Given the description of an element on the screen output the (x, y) to click on. 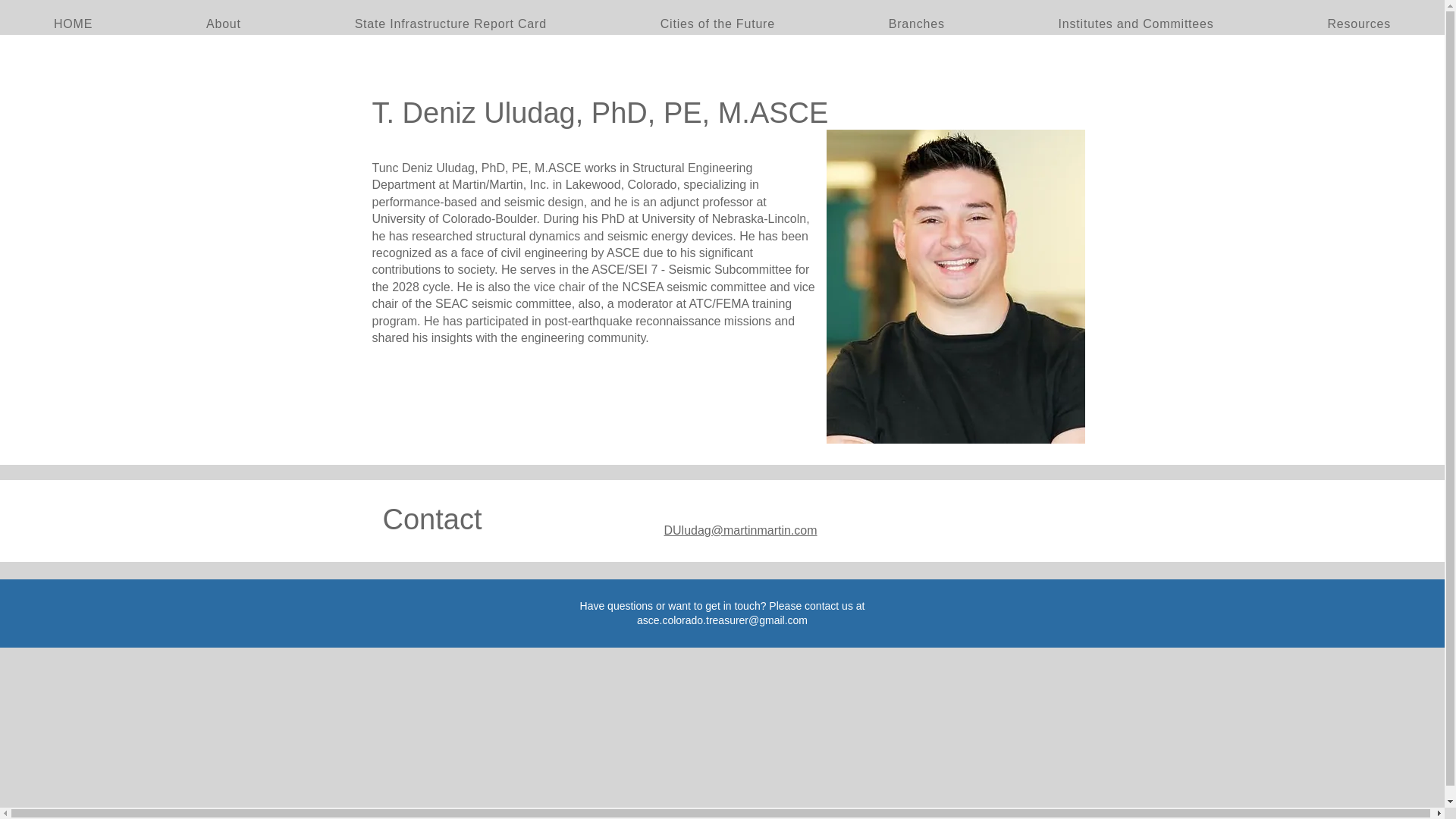
Branches (916, 23)
About (223, 23)
Institutes and Committees (1136, 23)
Resources (1358, 23)
Cities of the Future (717, 23)
HOME (73, 23)
State Infrastructure Report Card (450, 23)
